Given the description of an element on the screen output the (x, y) to click on. 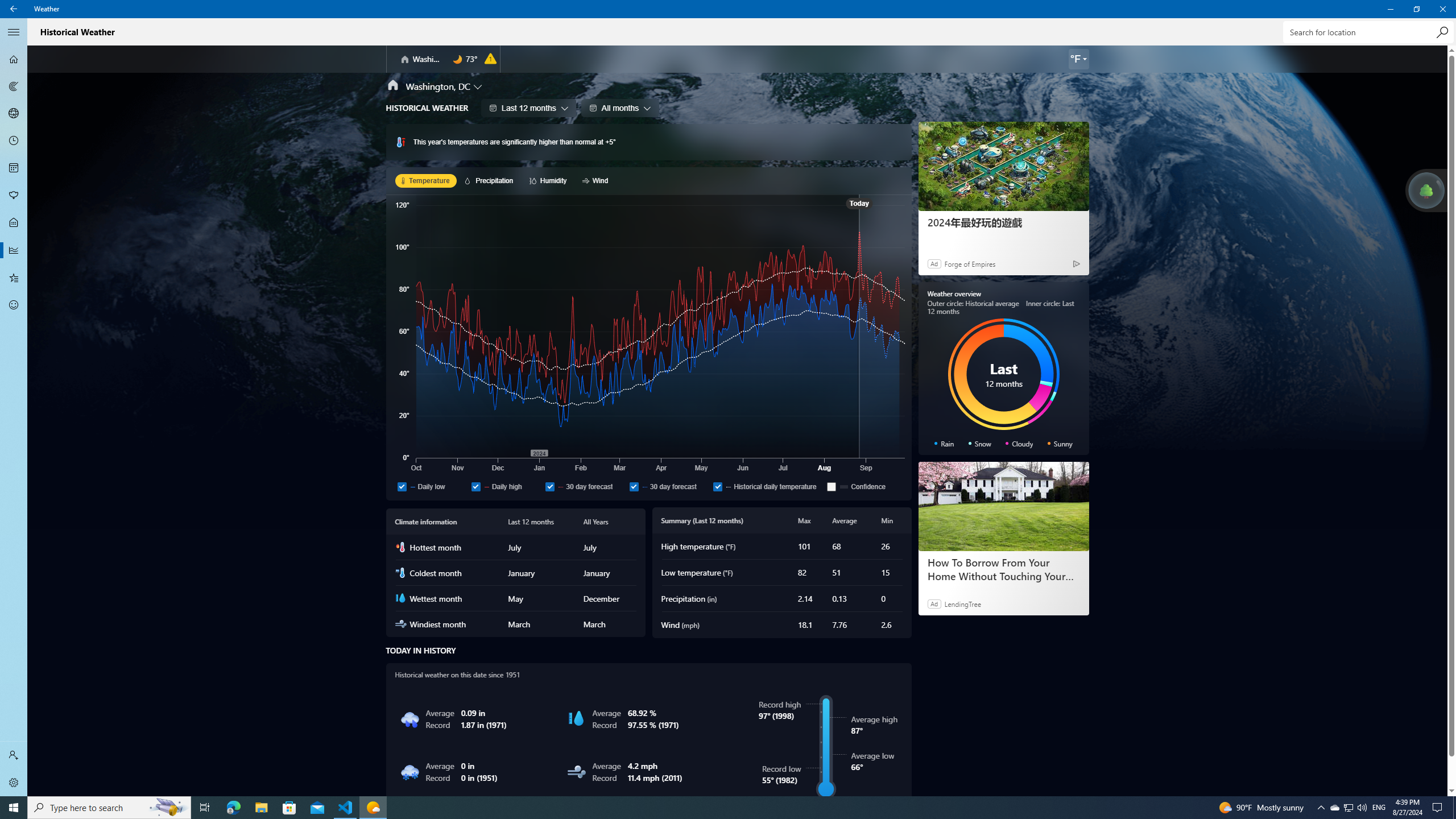
Send Feedback - Not Selected (13, 304)
Favorites - Not Selected (13, 277)
3D Maps - Not Selected (13, 113)
Life - Not Selected (13, 222)
Settings (13, 782)
